Given the description of an element on the screen output the (x, y) to click on. 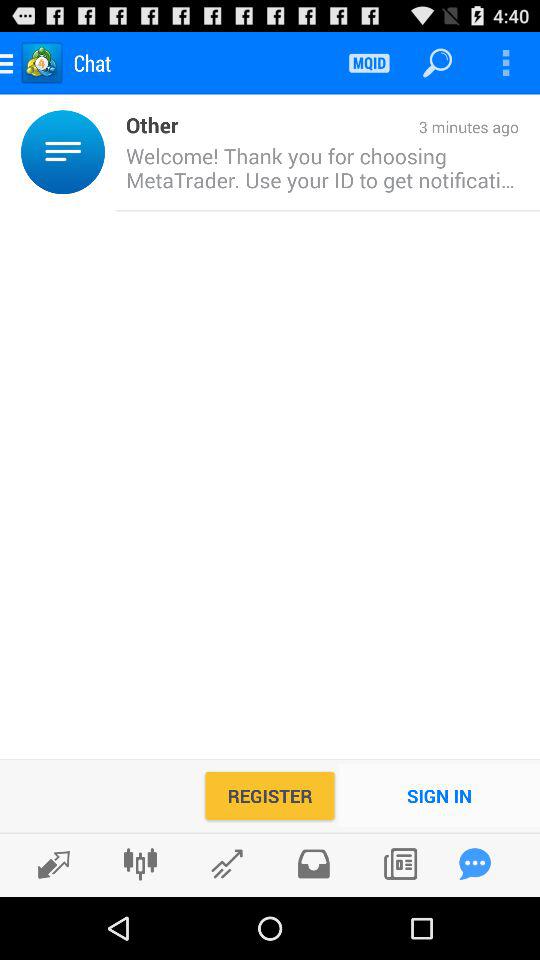
choose icon above welcome thank you item (348, 128)
